Given the description of an element on the screen output the (x, y) to click on. 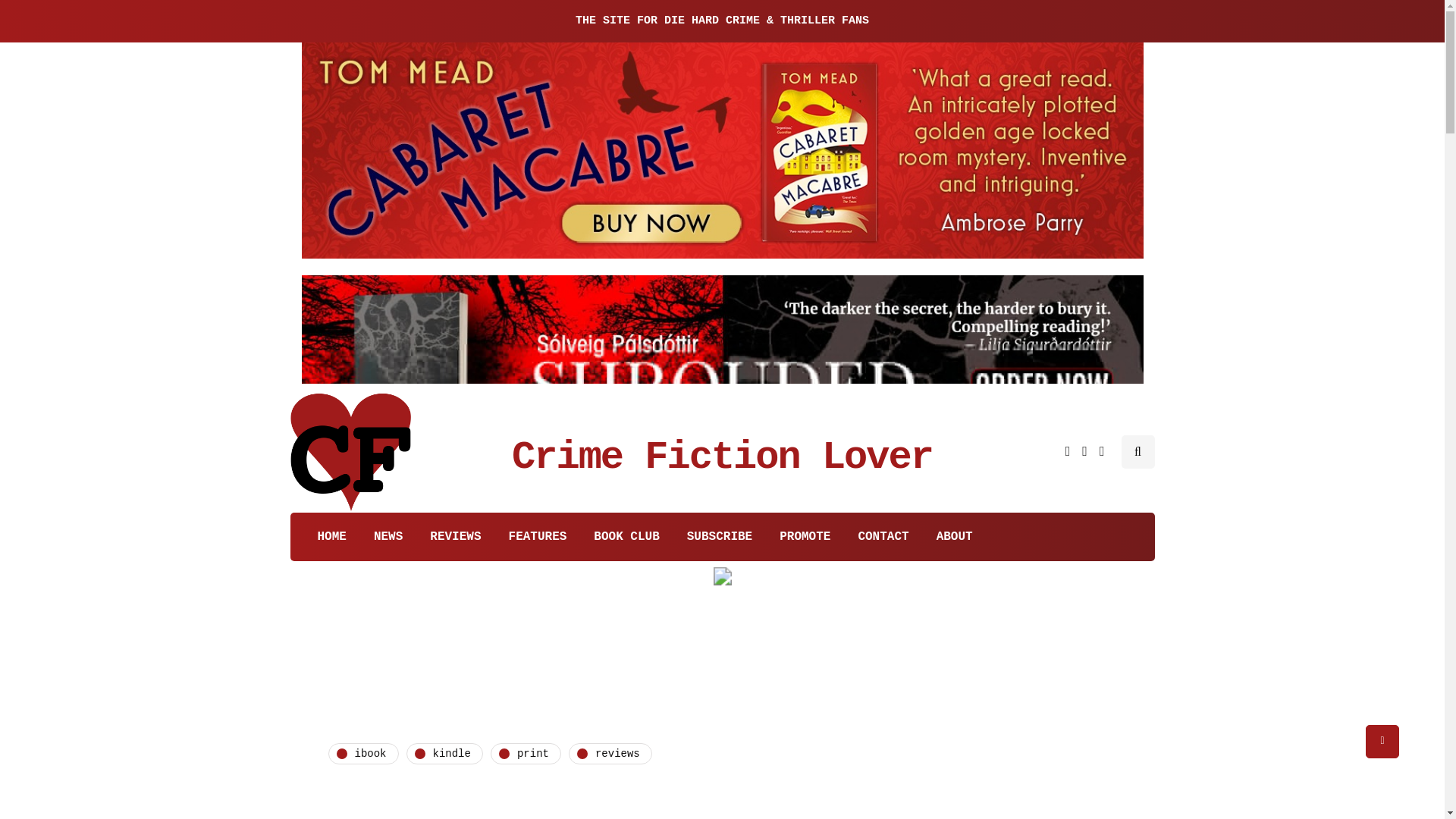
REVIEWS (455, 536)
CONTACT (882, 536)
reviews (610, 753)
kindle (444, 753)
ibook (362, 753)
HOME (324, 536)
PROMOTE (804, 536)
NEWS (387, 536)
ABOUT (955, 536)
FEATURES (537, 536)
SUBSCRIBE (718, 536)
print (525, 753)
BOOK CLUB (625, 536)
